Given the description of an element on the screen output the (x, y) to click on. 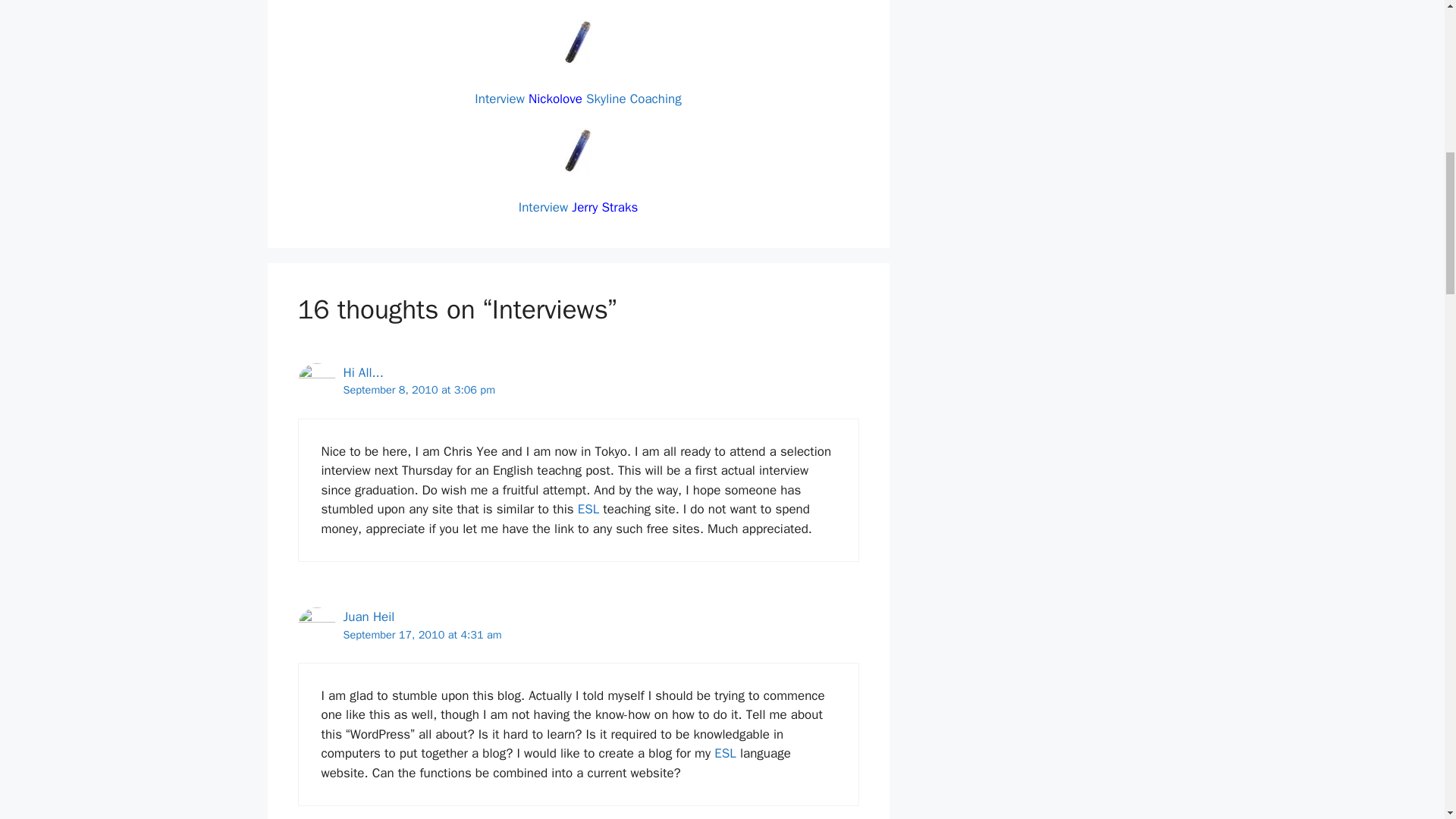
Interview (543, 207)
Hi All... (362, 372)
Interview (499, 98)
Skyline Coaching (633, 98)
ESL (588, 508)
September 8, 2010 at 3:06 pm (418, 389)
